Given the description of an element on the screen output the (x, y) to click on. 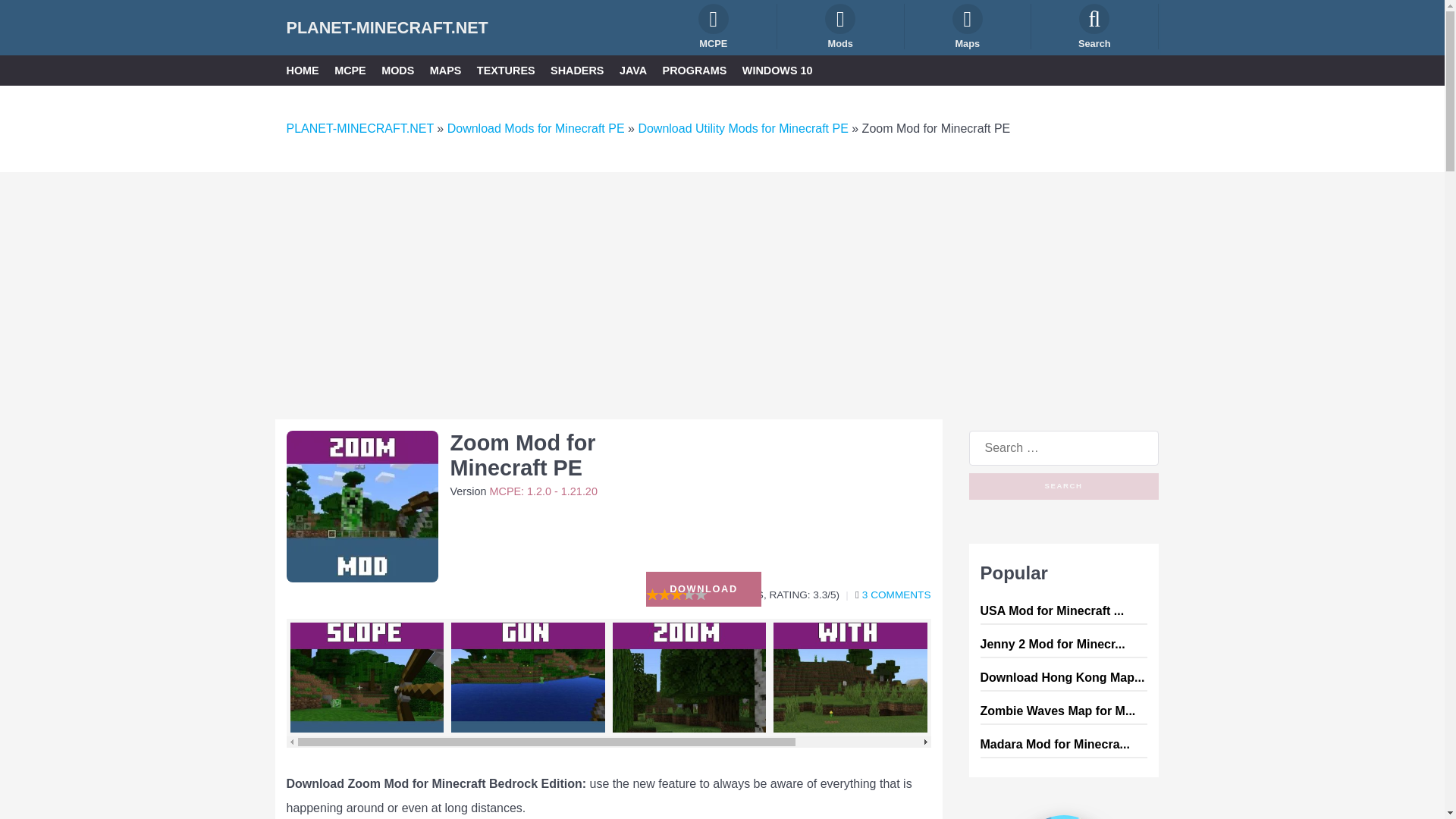
MCPE (713, 26)
Download Mods for Minecraft PE (535, 128)
Planet-Minecraft.net (386, 27)
MAPS (445, 70)
WINDOWS 10 (777, 70)
MCPE (350, 70)
PLANET-MINECRAFT.NET (386, 27)
Maps (967, 26)
Mods (840, 26)
MODS (397, 70)
